Given the description of an element on the screen output the (x, y) to click on. 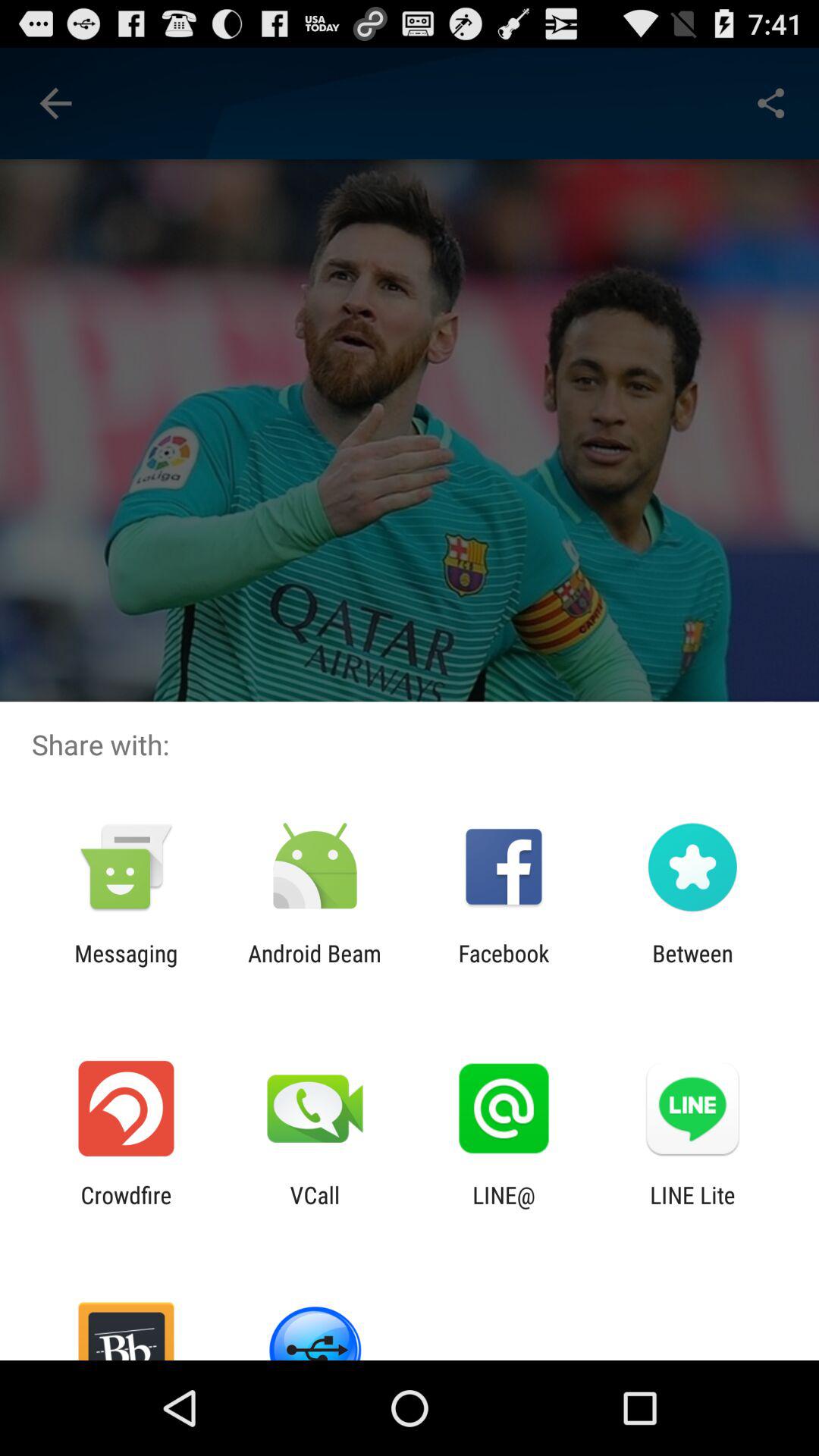
turn off the icon to the right of android beam app (503, 966)
